Given the description of an element on the screen output the (x, y) to click on. 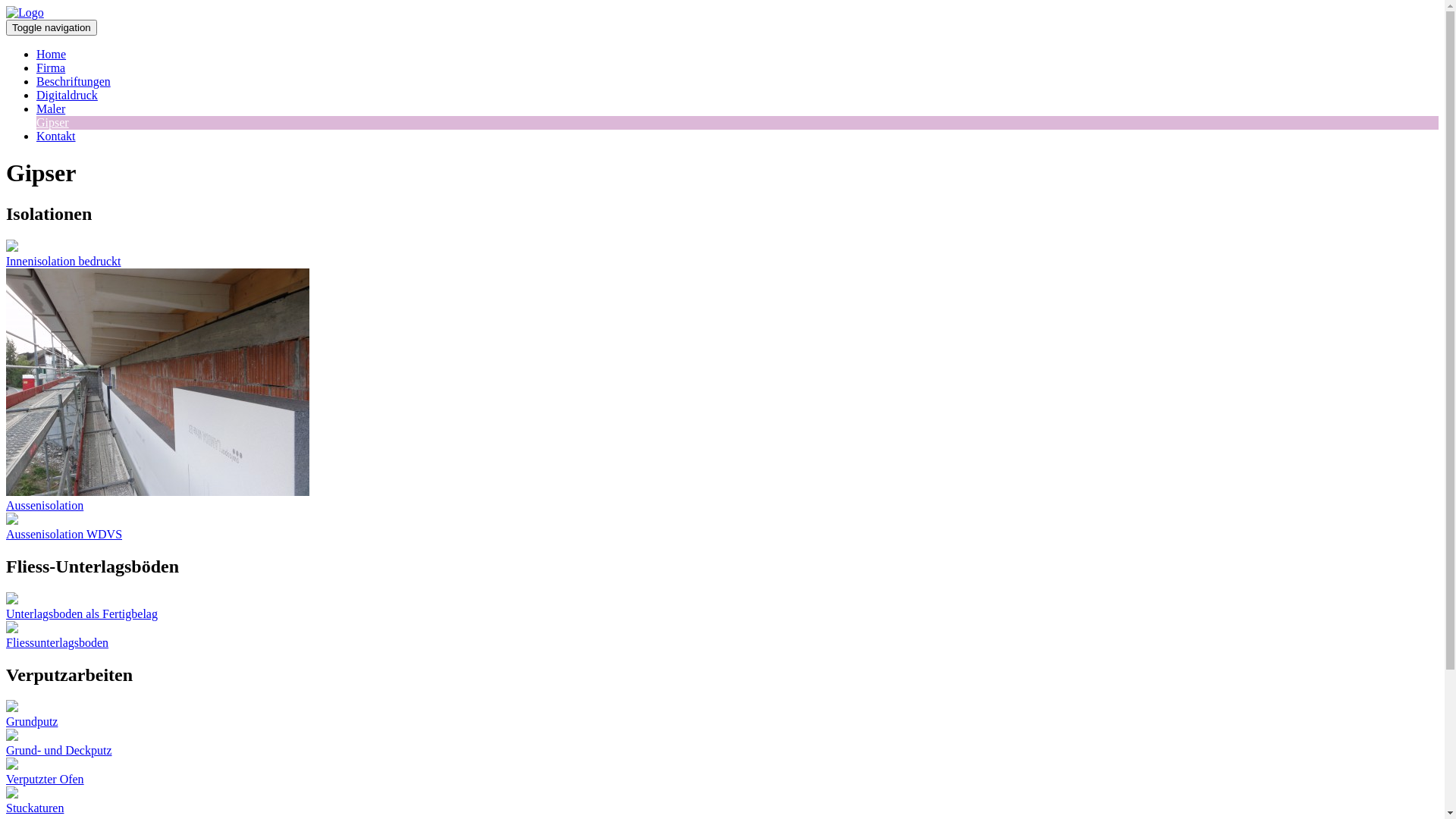
Grundputz Element type: text (722, 713)
Unterlagsboden als Fertigbelag Element type: text (722, 606)
Stuckaturen Element type: text (722, 800)
Home Element type: text (50, 53)
Maler Element type: text (50, 108)
Aussenisolation WDVS Element type: text (722, 526)
Digitaldruck Element type: text (66, 94)
Aussenisolation Element type: text (722, 390)
Innenisolation bedruckt Element type: text (722, 253)
Beschriftungen Element type: text (73, 81)
Firma Element type: text (50, 67)
Verputzter Ofen Element type: text (722, 771)
Kontakt Element type: text (55, 135)
Toggle navigation Element type: text (51, 27)
Fliessunterlagsboden Element type: text (722, 635)
Grund- und Deckputz Element type: text (722, 742)
Gipser Element type: text (52, 122)
